Given the description of an element on the screen output the (x, y) to click on. 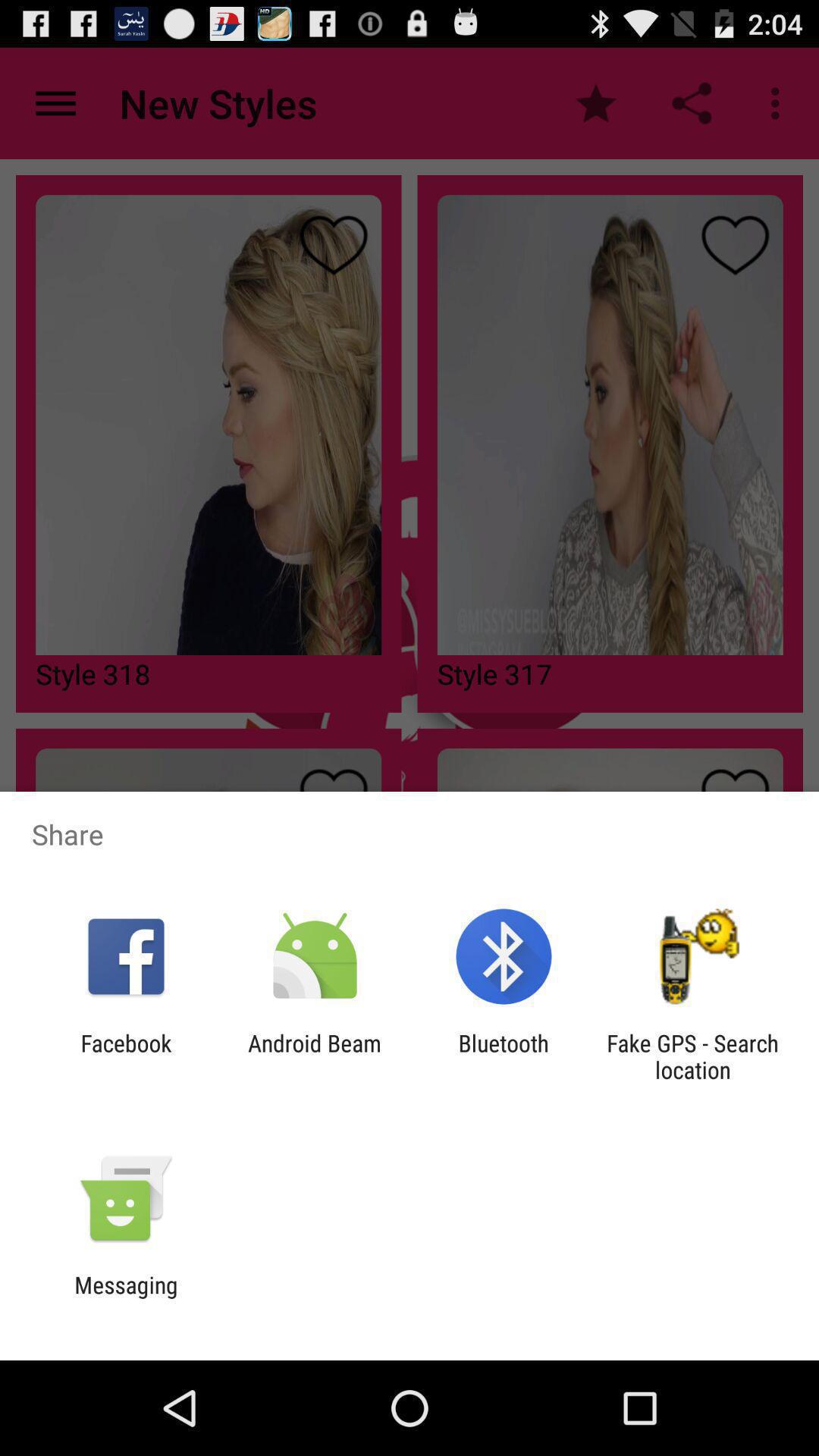
tap app next to android beam icon (503, 1056)
